Given the description of an element on the screen output the (x, y) to click on. 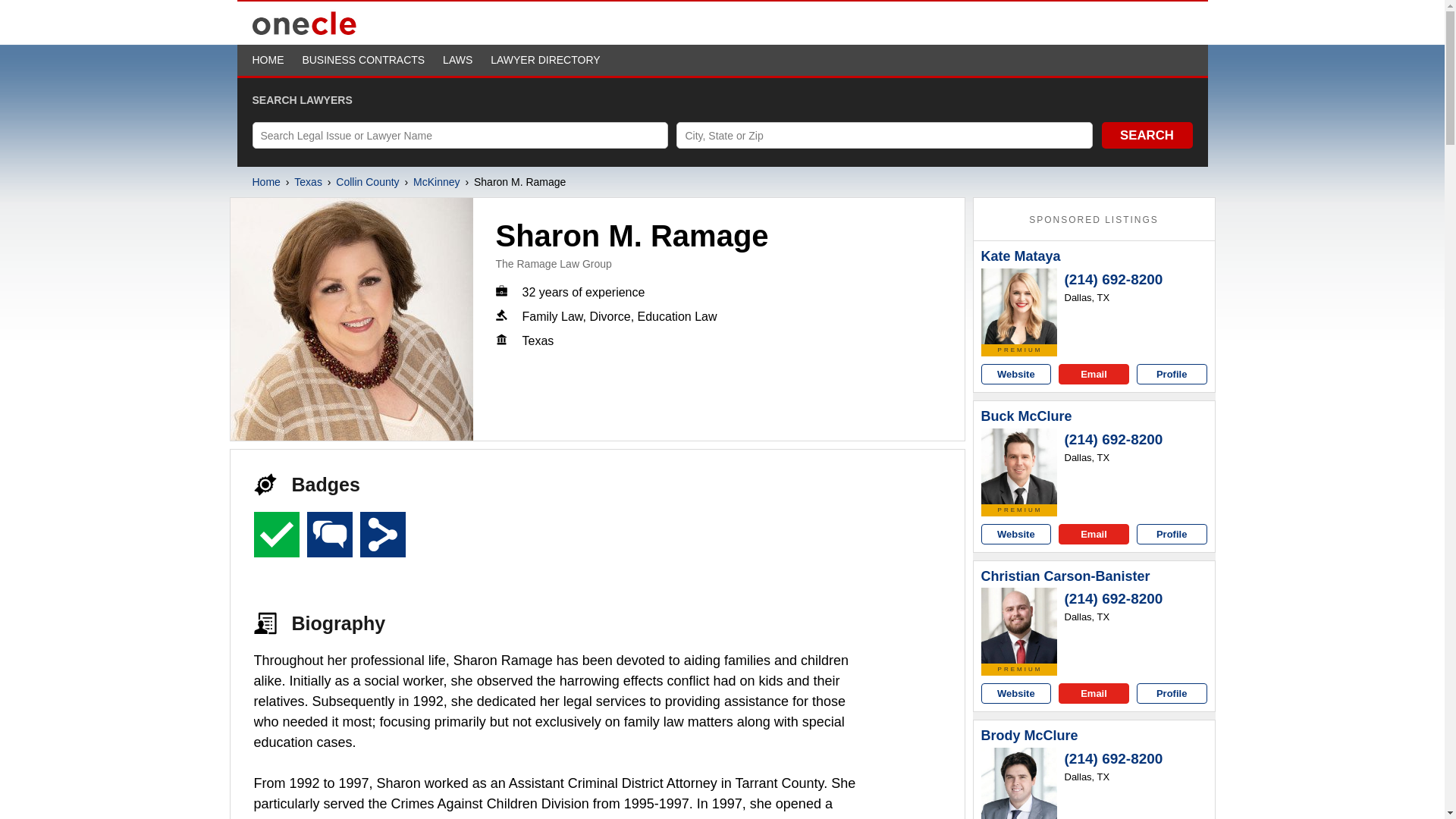
LAWS (456, 60)
Kate Mataya (1021, 256)
Kate Mataya (1019, 305)
Search Legal Issue or Lawyer Name (459, 135)
Profile (1172, 373)
Buck McClure (1019, 466)
Kate Mataya (1021, 256)
OneCLE Lawyer Directory (304, 33)
Email (1093, 373)
LAWYER DIRECTORY (544, 60)
Collin County (367, 181)
Buck McClure (1026, 416)
HOME (267, 60)
Home (265, 181)
Website (1016, 373)
